Given the description of an element on the screen output the (x, y) to click on. 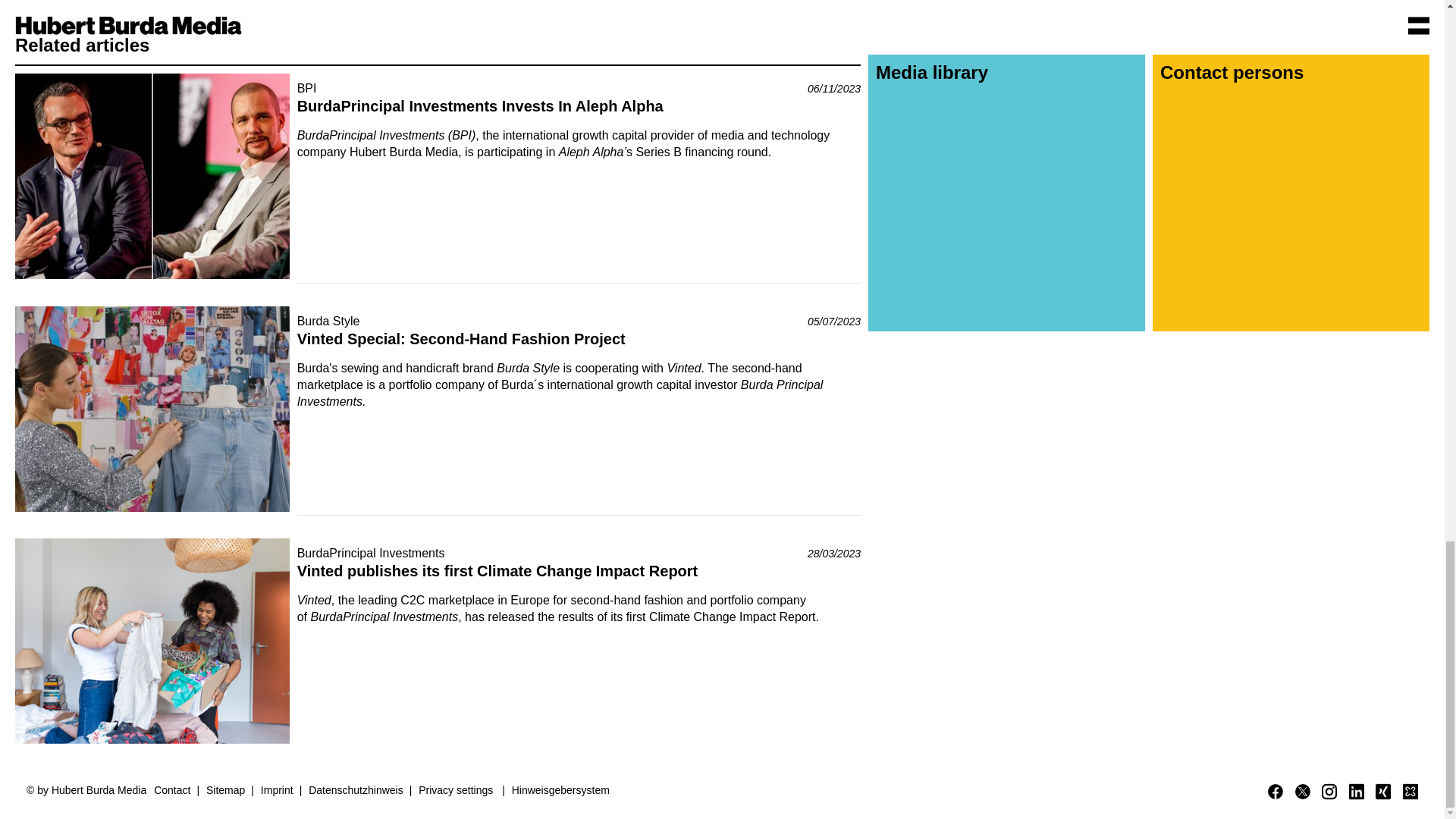
BurdaPrincipal Investments Invests In Aleph Alpha (480, 105)
Vinted Special: Second-Hand Fashion Project (461, 338)
Manage privacy settings (459, 790)
Vinted publishes its first Climate Change Impact Report (497, 570)
